Given the description of an element on the screen output the (x, y) to click on. 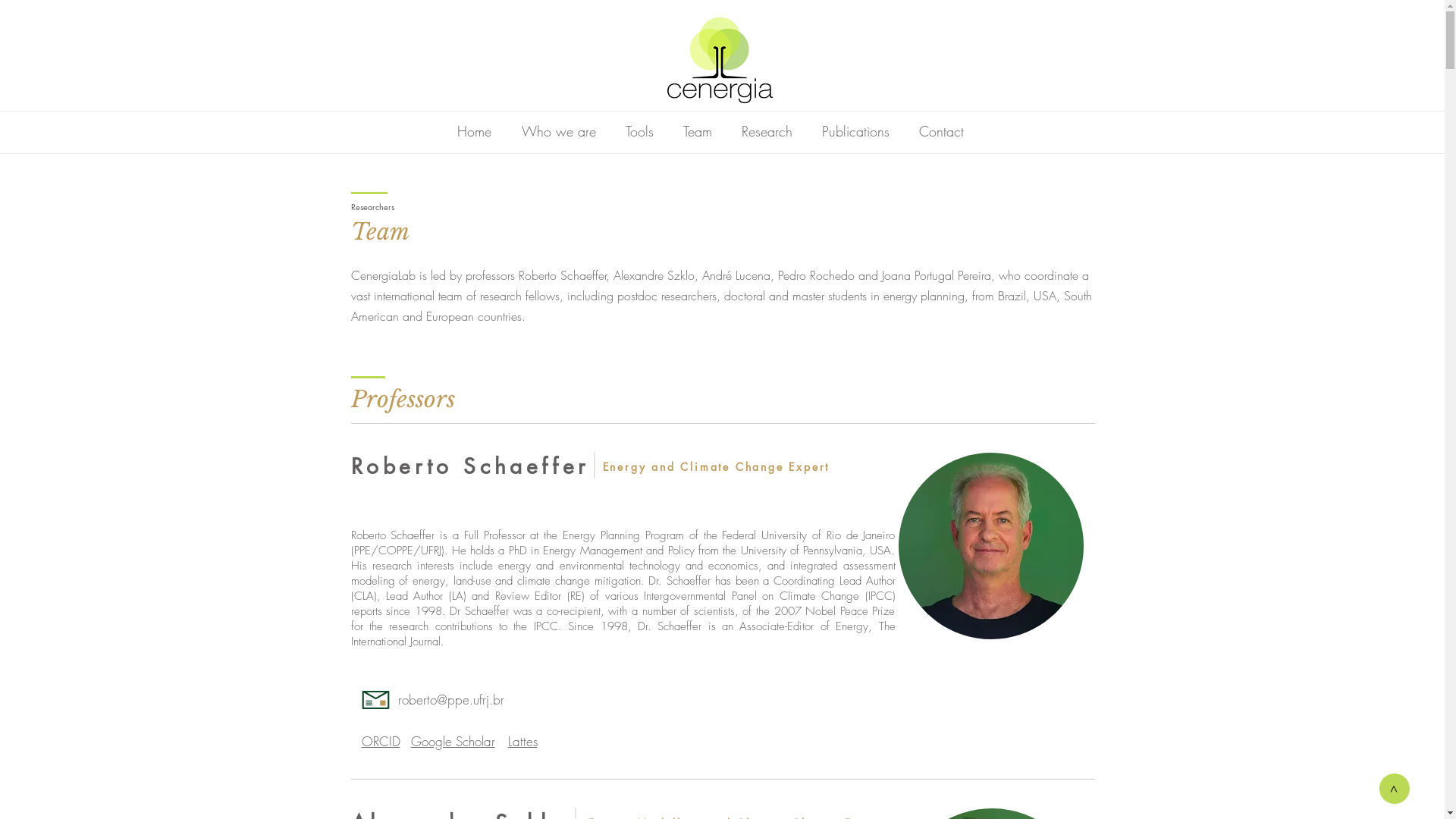
Contact Element type: text (940, 130)
Publications Element type: text (854, 130)
master students Element type: text (828, 295)
Team Element type: text (697, 130)
Tools Element type: text (639, 130)
Research Element type: text (766, 130)
ORCID Element type: text (379, 740)
Home Element type: text (473, 130)
Who we are Element type: text (558, 130)
professors Element type: text (489, 274)
> Element type: text (1394, 788)
roberto@ppe.ufrj.br Element type: text (450, 699)
Lattes Element type: text (522, 740)
Google Scholar Element type: text (453, 740)
doctoral Element type: text (743, 295)
postdoc researchers Element type: text (666, 295)
